Given the description of an element on the screen output the (x, y) to click on. 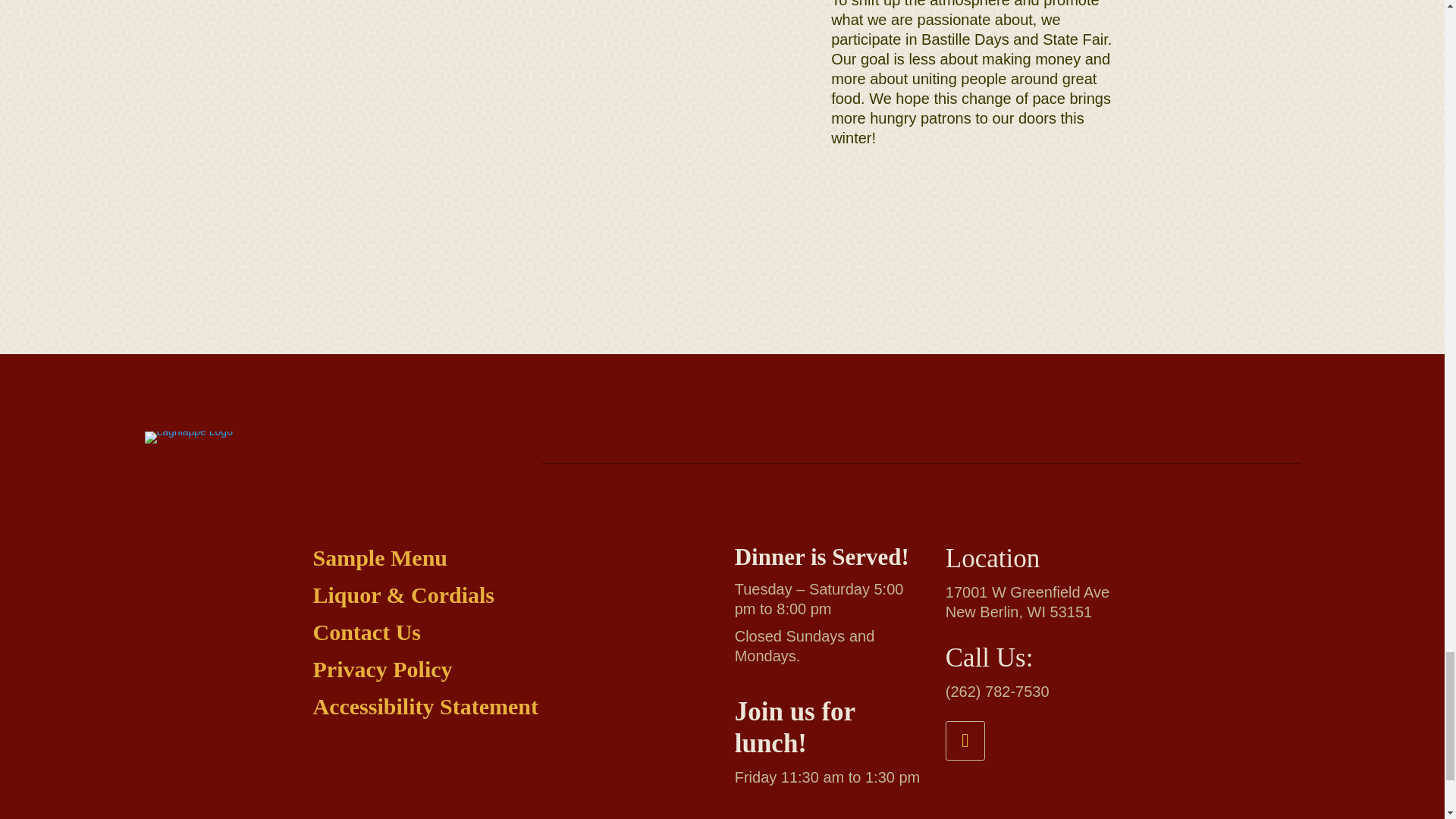
Follow on Facebook (964, 740)
Privacy Policy (382, 668)
Accessibility Statement (425, 706)
Sample Menu (379, 557)
Contact Us (366, 631)
